Given the description of an element on the screen output the (x, y) to click on. 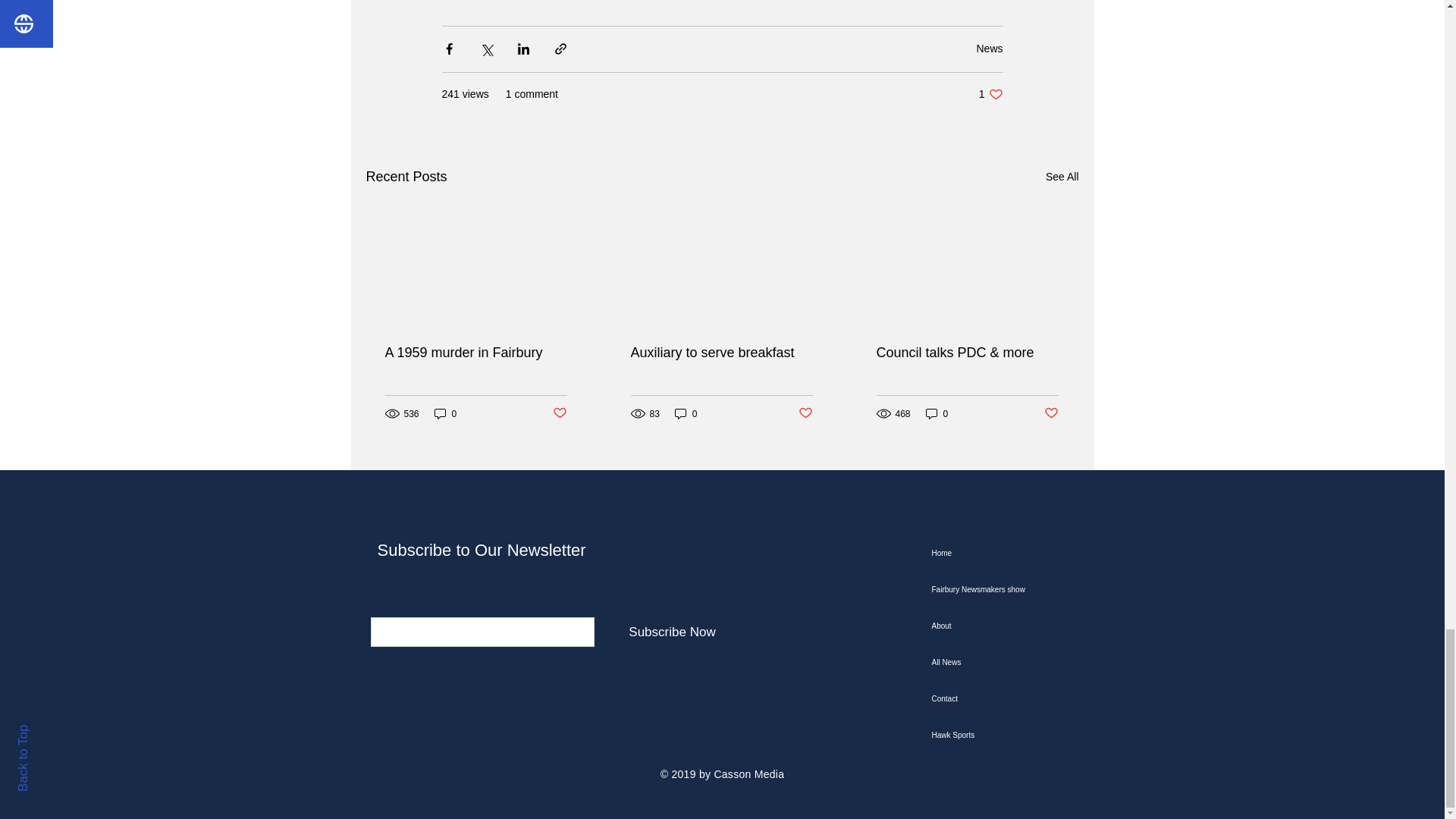
See All (1061, 177)
Post not marked as liked (558, 413)
0 (937, 413)
A 1959 murder in Fairbury (476, 352)
0 (685, 413)
Post not marked as liked (990, 93)
0 (804, 413)
Post not marked as liked (445, 413)
Subscribe Now (1050, 413)
